Given the description of an element on the screen output the (x, y) to click on. 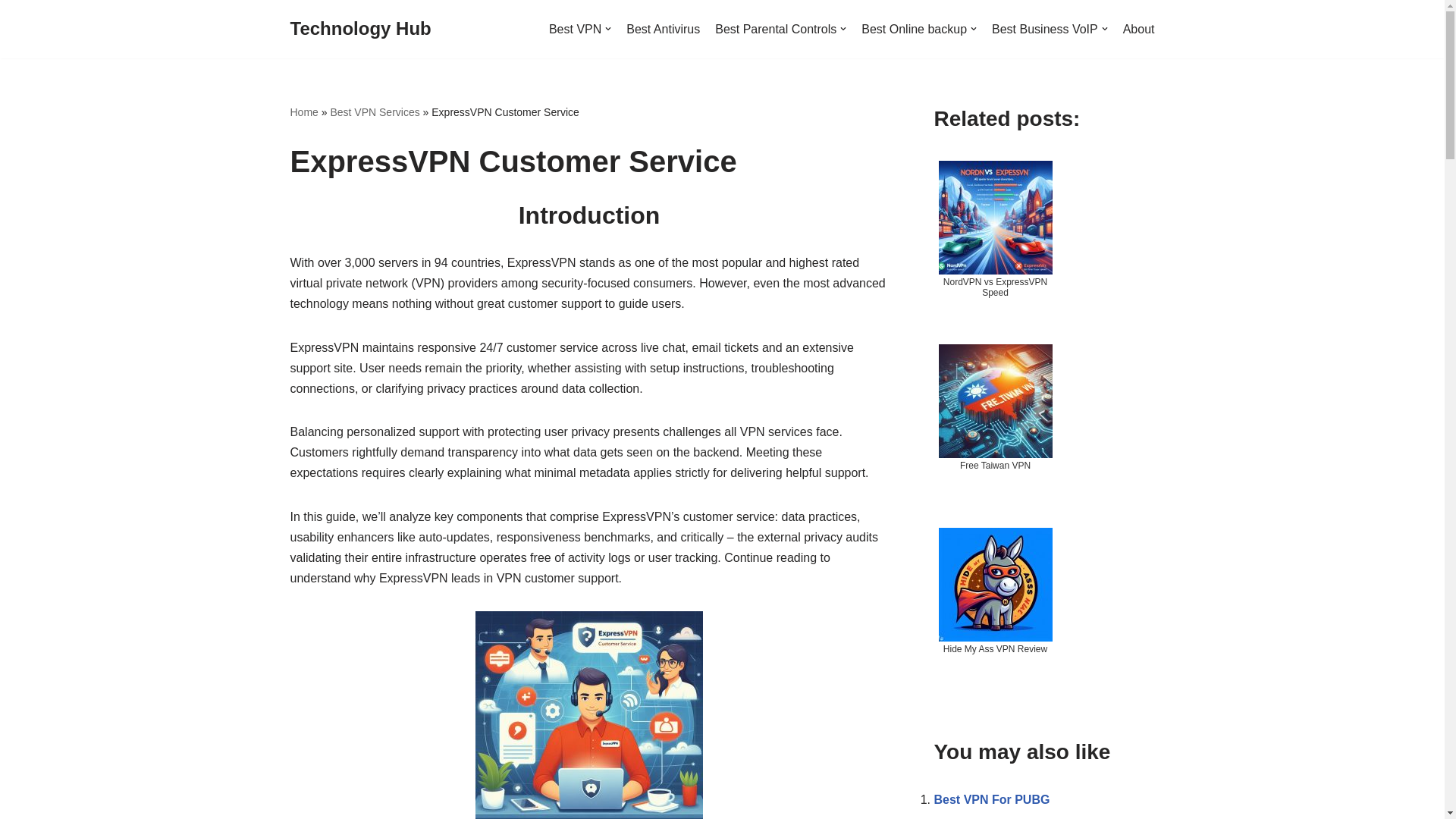
Technology Hub (359, 29)
Best Parental Controls (779, 29)
Best Antivirus (663, 29)
Skip to content (11, 31)
Best Business VoIP (1049, 29)
Best Online backup (918, 29)
Best VPN (579, 29)
Technology Hub (359, 29)
